Given the description of an element on the screen output the (x, y) to click on. 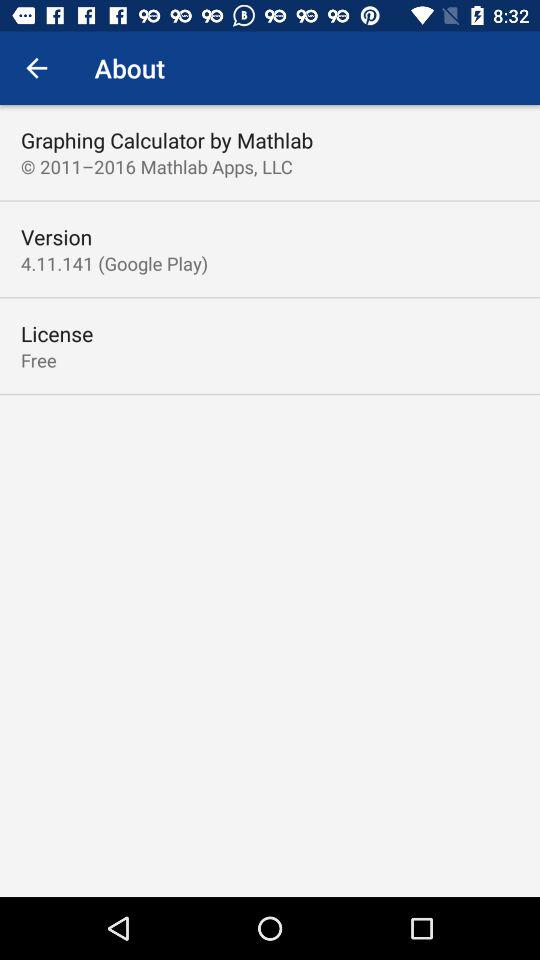
jump until version icon (56, 236)
